Given the description of an element on the screen output the (x, y) to click on. 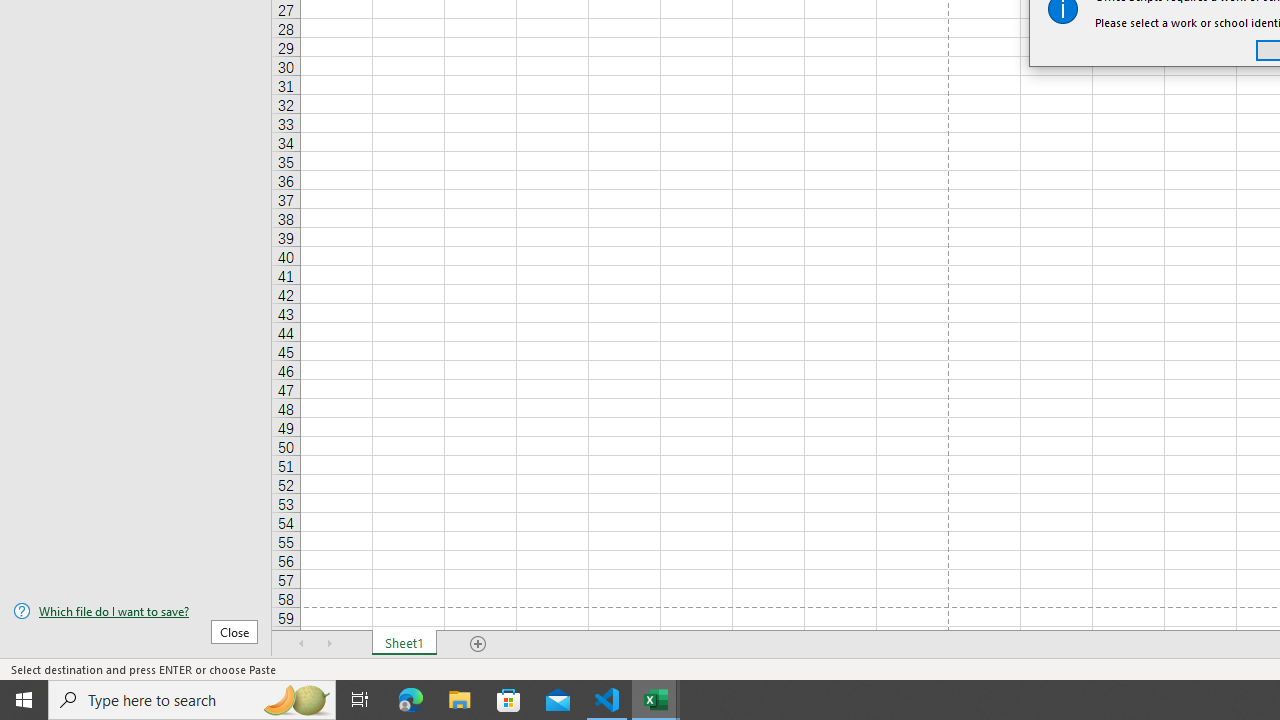
Microsoft Edge (411, 699)
File Explorer (460, 699)
Visual Studio Code - 1 running window (607, 699)
Task View (359, 699)
Start (24, 699)
Search highlights icon opens search home window (295, 699)
Type here to search (191, 699)
Microsoft Store (509, 699)
